Given the description of an element on the screen output the (x, y) to click on. 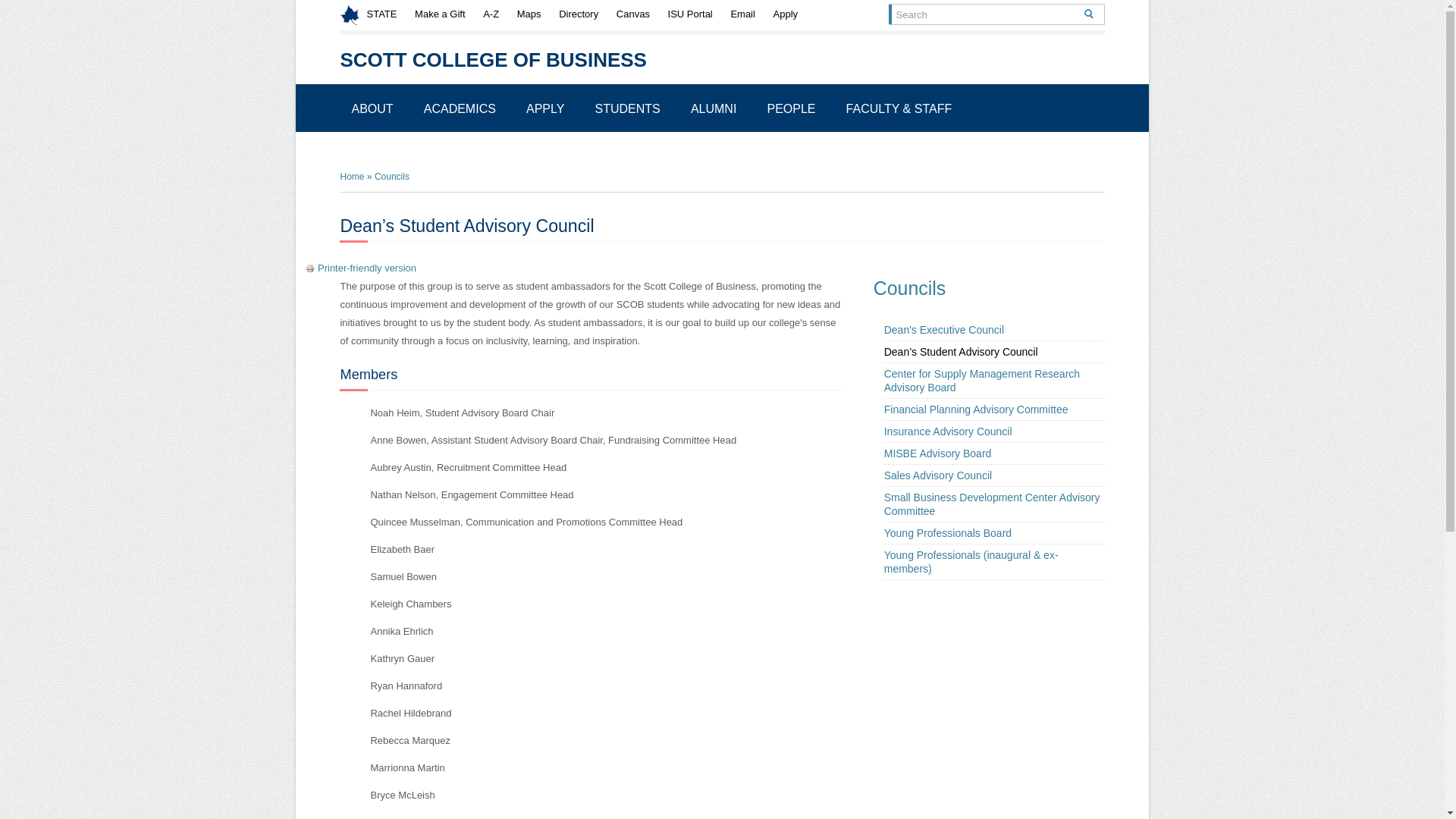
A-Z (491, 14)
ISU Portal (690, 14)
Printer-friendly version (311, 267)
Email (742, 14)
Enter the terms you wish to search for. (981, 14)
Directory (578, 14)
Home (492, 59)
Display a printer-friendly version of this page. (360, 267)
Apply (785, 14)
Search (1088, 14)
ABOUT (371, 108)
Make a Gift (439, 14)
SCOTT COLLEGE OF BUSINESS (492, 59)
Search (1088, 14)
Maps (528, 14)
